Given the description of an element on the screen output the (x, y) to click on. 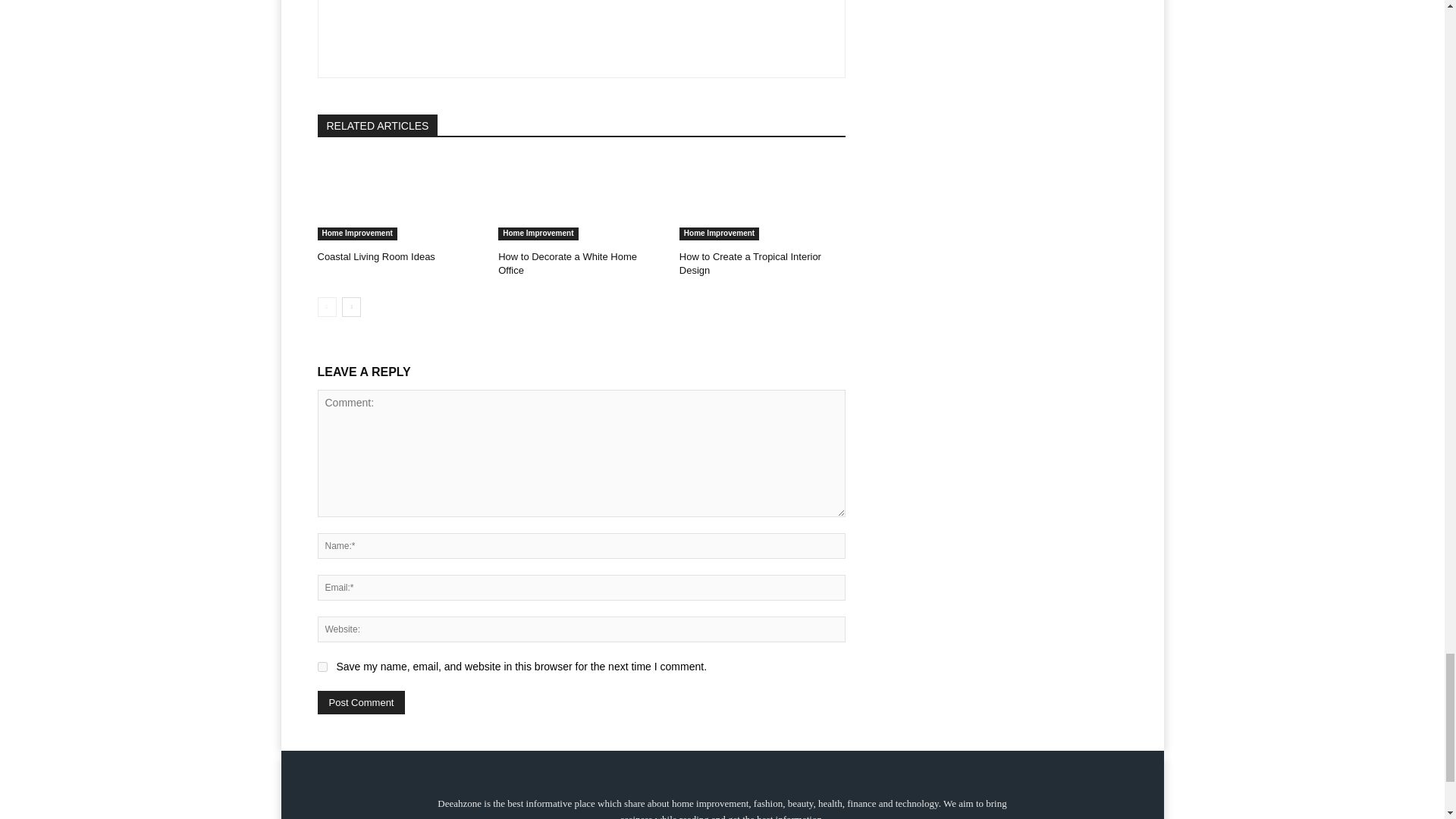
yes (321, 666)
Post Comment (360, 702)
